Given the description of an element on the screen output the (x, y) to click on. 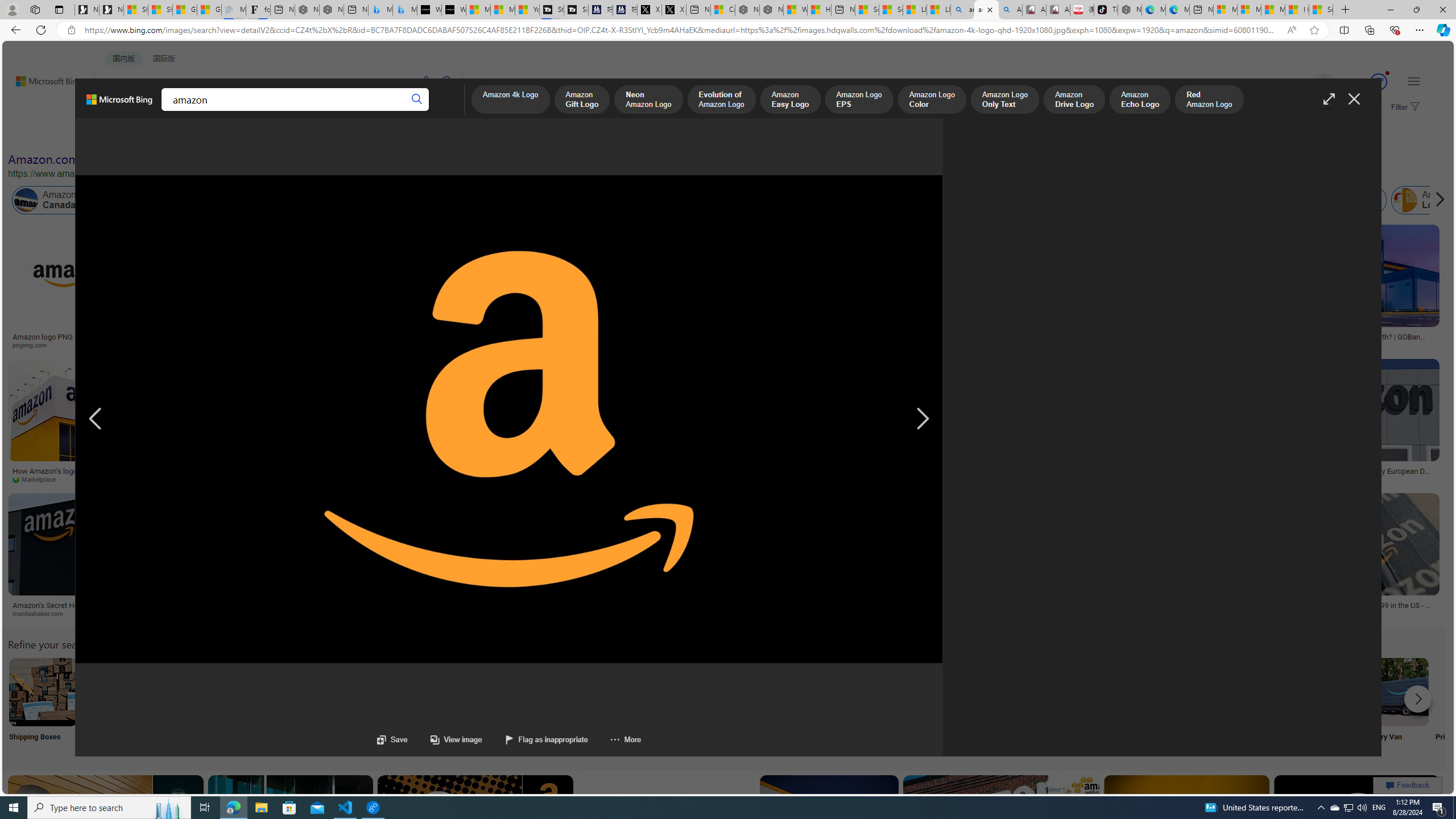
amazon.com.mx (1169, 613)
Amazon Jobs Near Me (342, 691)
mytotalretail.com (170, 344)
ACADEMIC (311, 111)
mobilemarketingmagazine.com (693, 479)
amazon.com.mx (1108, 612)
Dallas Morning News (429, 479)
Amazon Official Website (1243, 691)
